Given the description of an element on the screen output the (x, y) to click on. 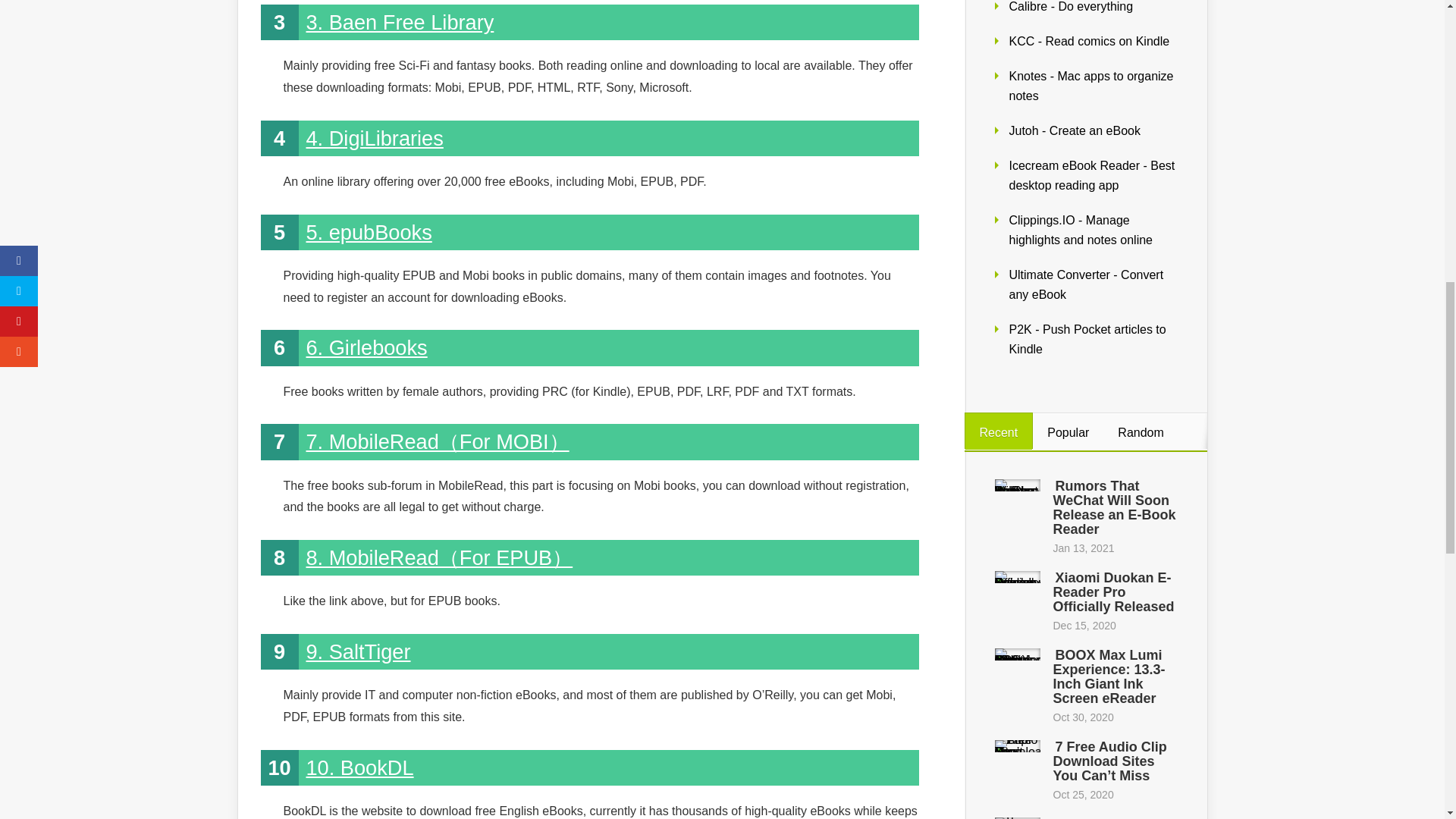
3. Baen Free Library (400, 22)
4. DigiLibraries (374, 137)
5. epubBooks (368, 232)
6. Girlebooks (366, 347)
10. BookDL (359, 767)
9. SaltTiger (357, 651)
